Given the description of an element on the screen output the (x, y) to click on. 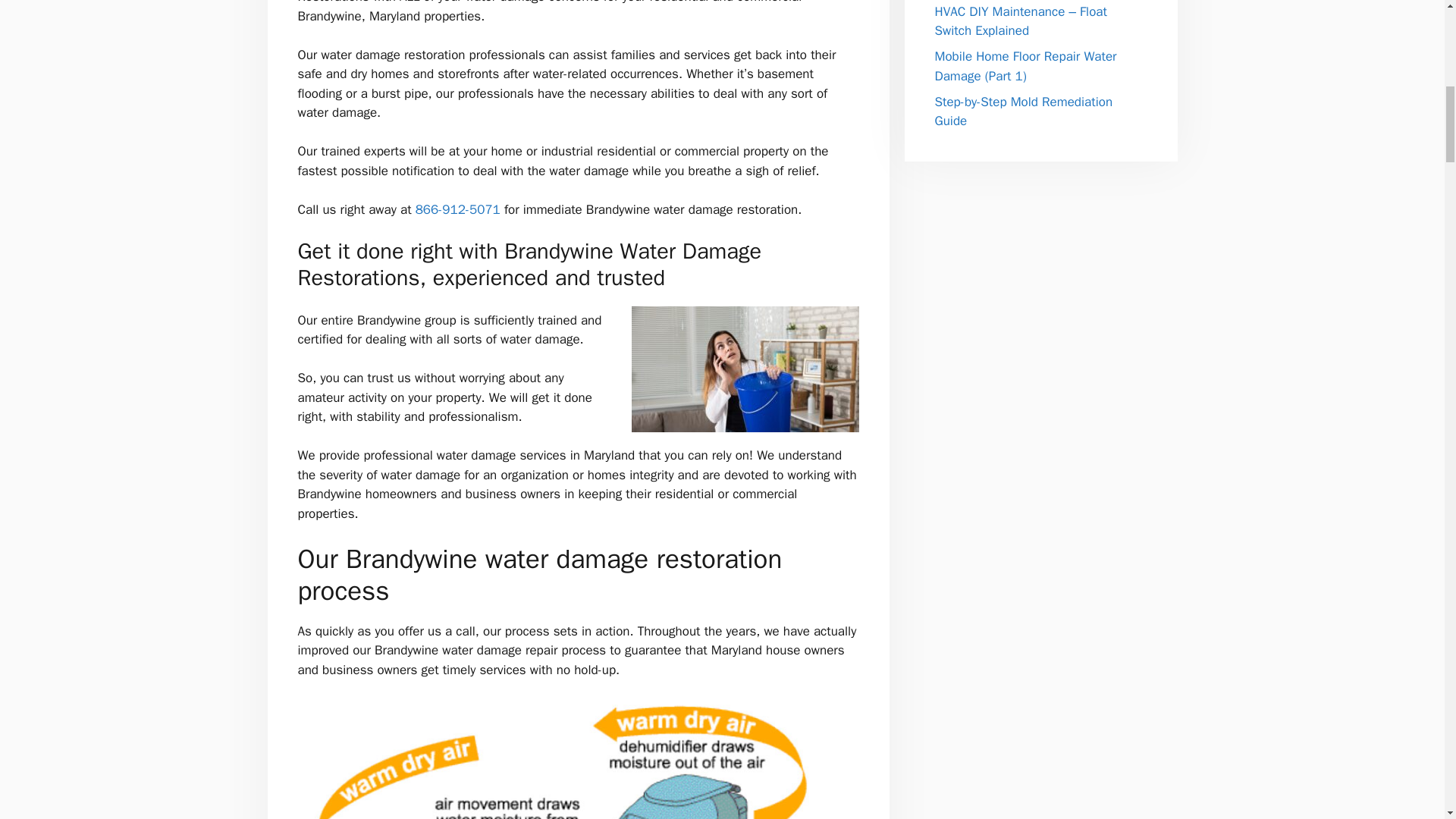
866-912-5071 (457, 209)
Step-by-Step Mold Remediation Guide (1023, 111)
